Given the description of an element on the screen output the (x, y) to click on. 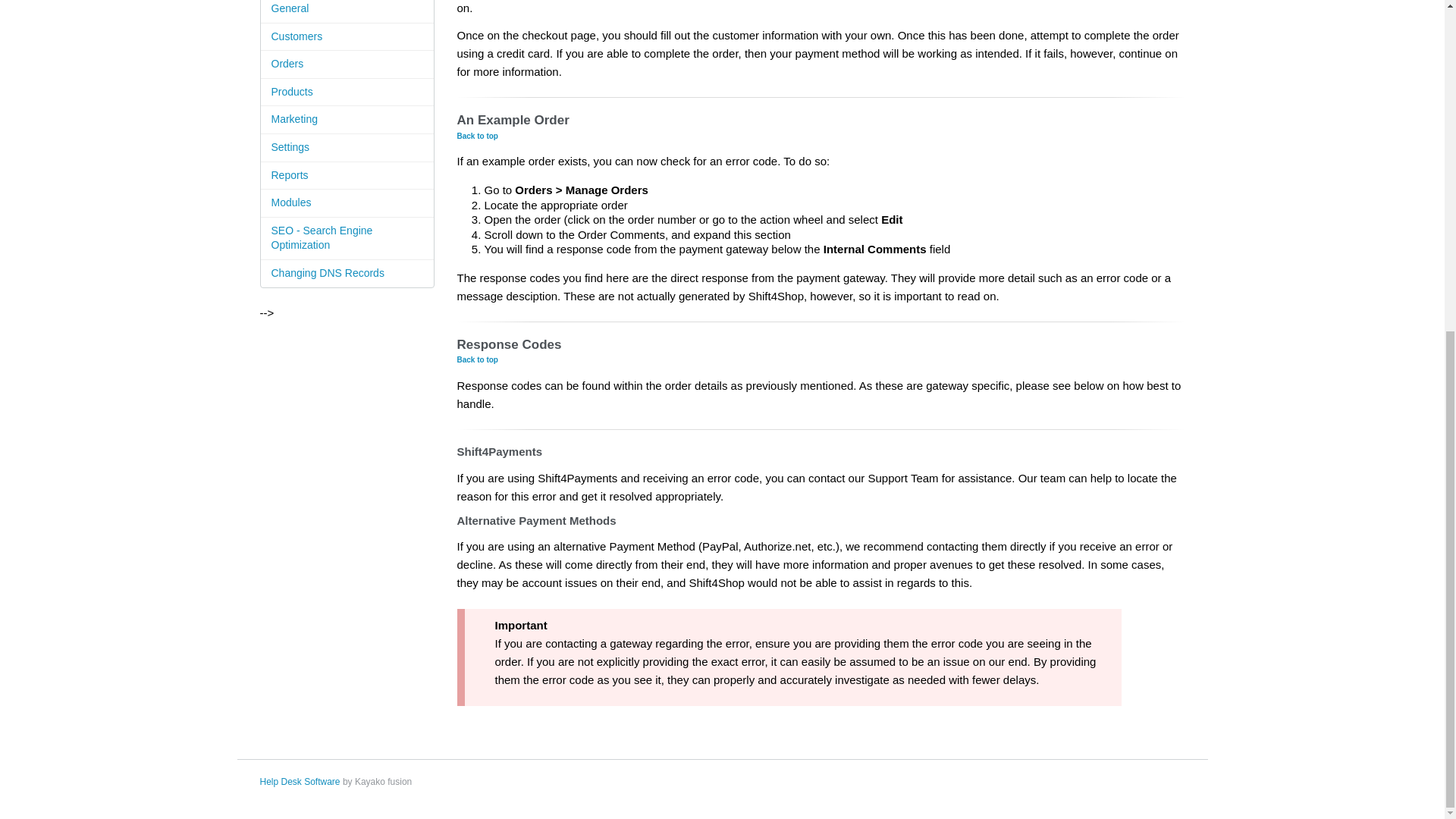
Settings (346, 148)
SEO - Search Engine Optimization (346, 238)
Customers (346, 37)
Orders (346, 64)
Modules (346, 203)
Back to top (477, 359)
Help Desk Software (299, 781)
Products (346, 92)
Back to top (477, 135)
General (346, 11)
Changing DNS Records (346, 273)
Reports (346, 176)
Marketing (346, 120)
